Given the description of an element on the screen output the (x, y) to click on. 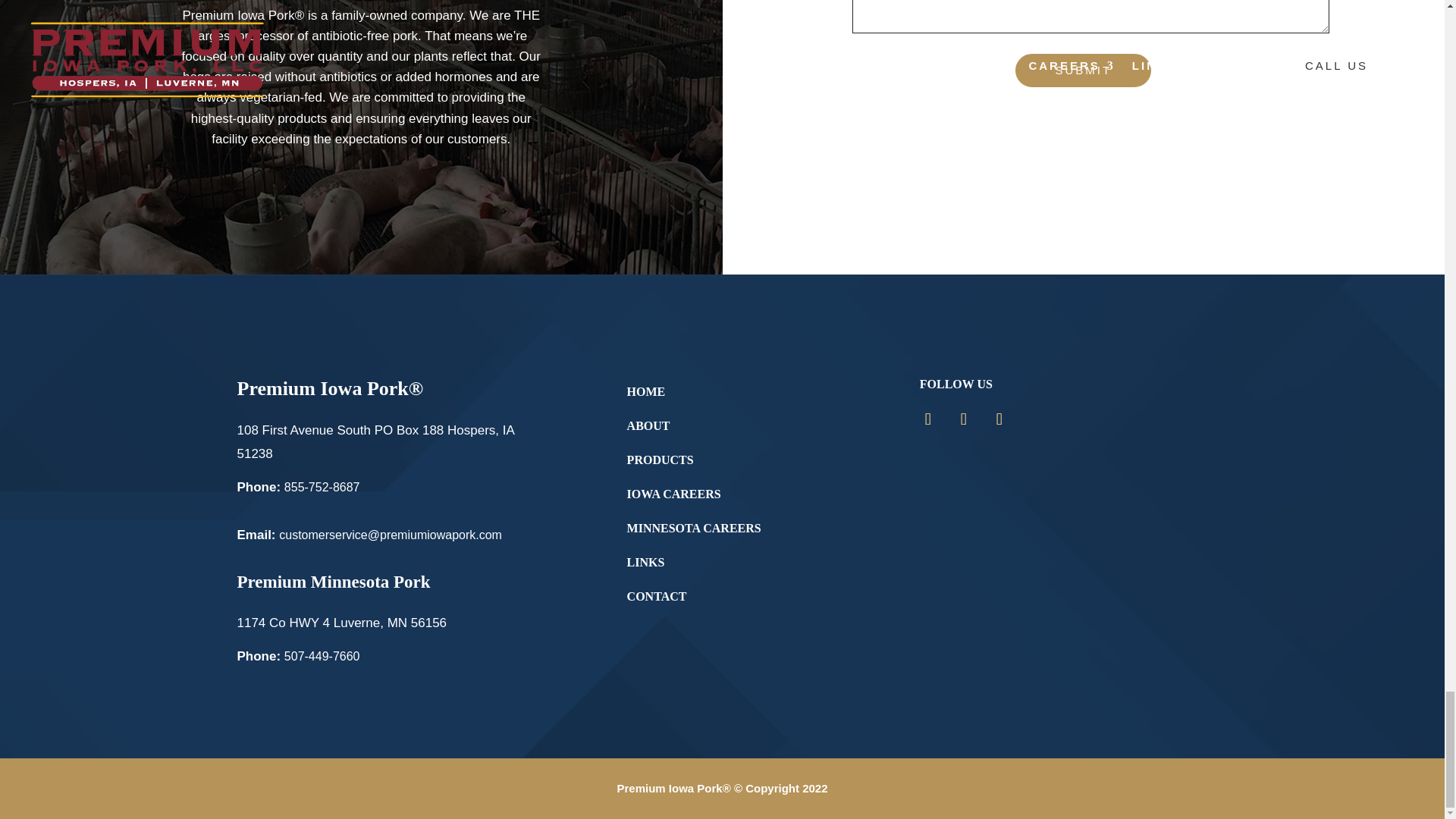
Pinterest (999, 419)
MINNESOTA CAREERS (694, 527)
ABOUT (648, 425)
LINKS (646, 562)
Facebook (963, 419)
Instagram (928, 419)
855-752-8687 (321, 486)
CONTACT (657, 595)
SUBMIT (1082, 70)
HOME (646, 391)
